Given the description of an element on the screen output the (x, y) to click on. 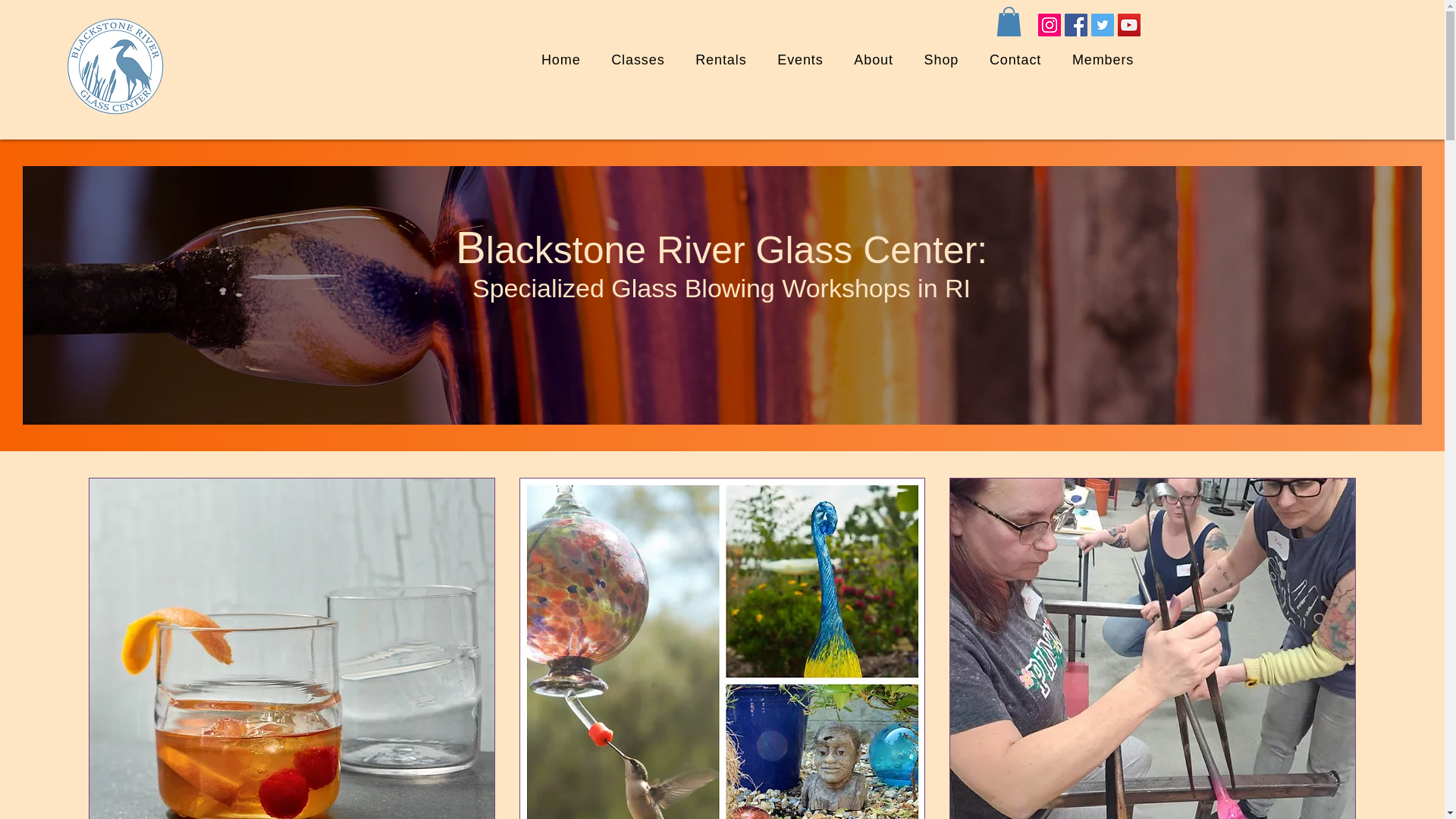
Contact (1015, 59)
Home (560, 59)
Shop (941, 59)
Members (1103, 59)
About (873, 59)
Events (837, 59)
Rentals (799, 59)
Classes (720, 59)
